Given the description of an element on the screen output the (x, y) to click on. 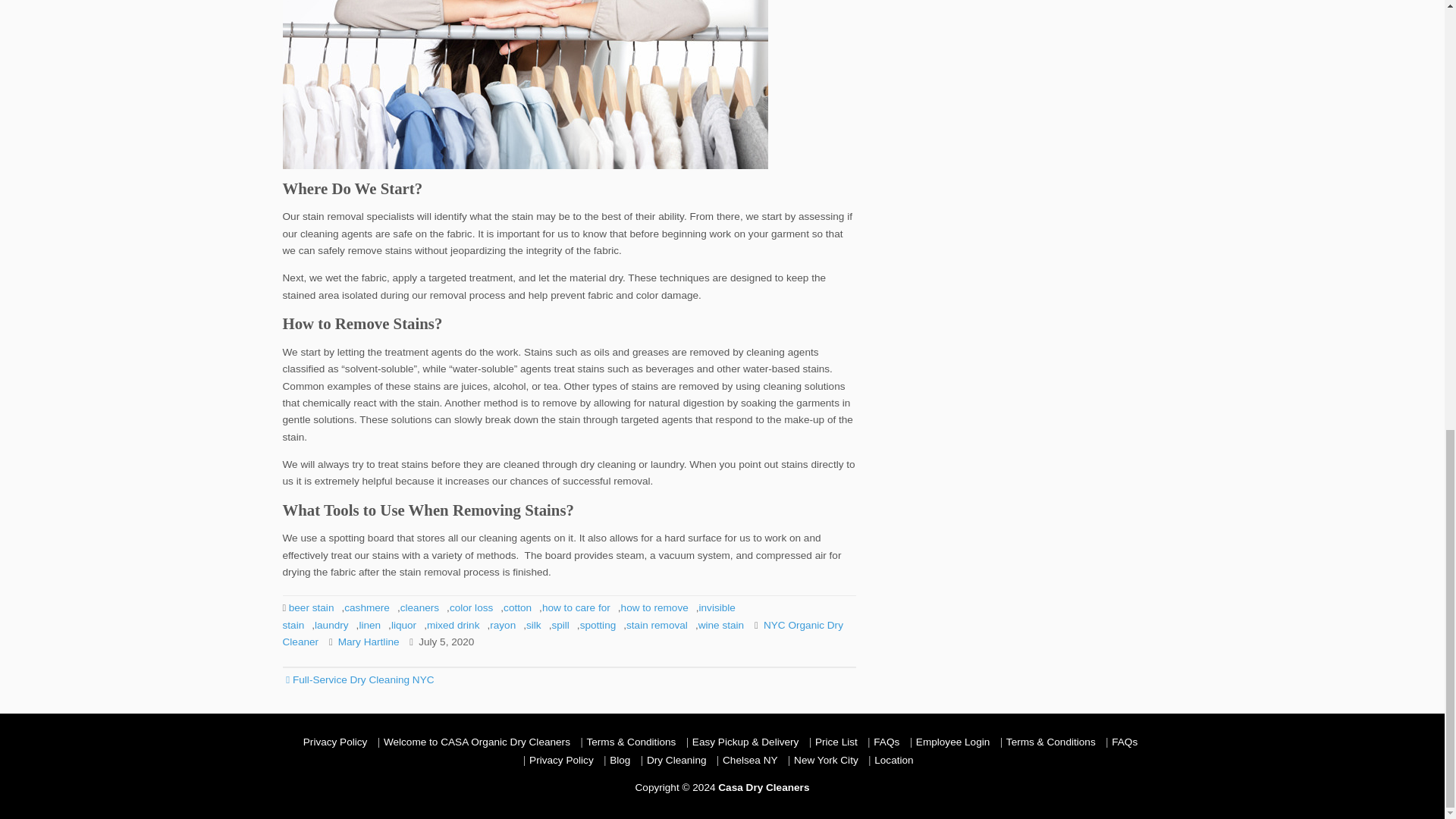
how to care for (575, 607)
cleaners (419, 607)
linen (369, 624)
laundry (331, 624)
invisible stain (508, 615)
cotton (517, 607)
color loss (471, 607)
cashmere (366, 607)
beer stain (311, 607)
how to remove (654, 607)
